Given the description of an element on the screen output the (x, y) to click on. 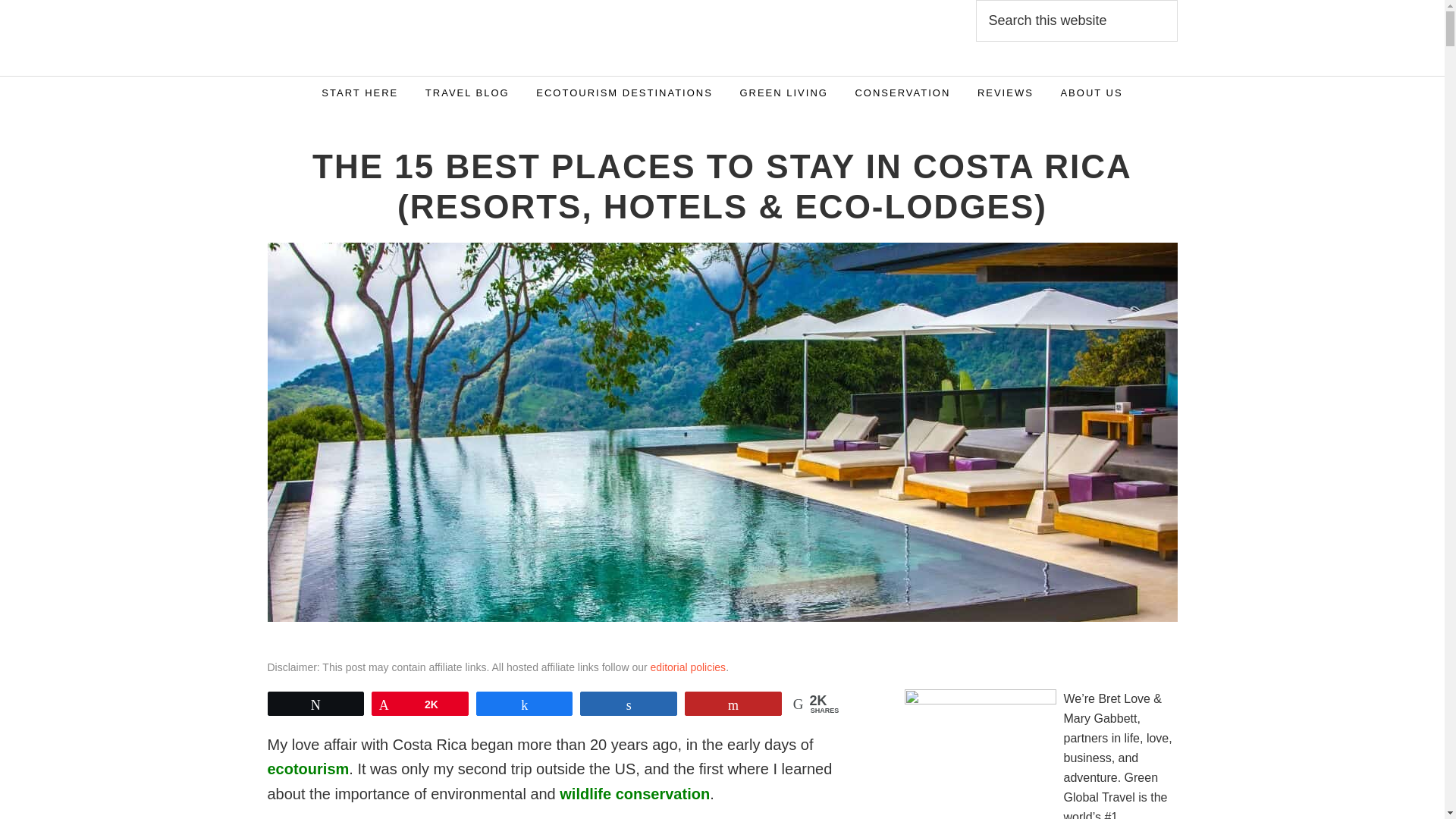
START HERE (359, 92)
CONSERVATION (901, 92)
ABOUT US (1091, 92)
editorial policies (688, 666)
Green Global Travel (448, 38)
ECOTOURISM DESTINATIONS (623, 92)
TRAVEL BLOG (467, 92)
GREEN LIVING (783, 92)
REVIEWS (1005, 92)
